Given the description of an element on the screen output the (x, y) to click on. 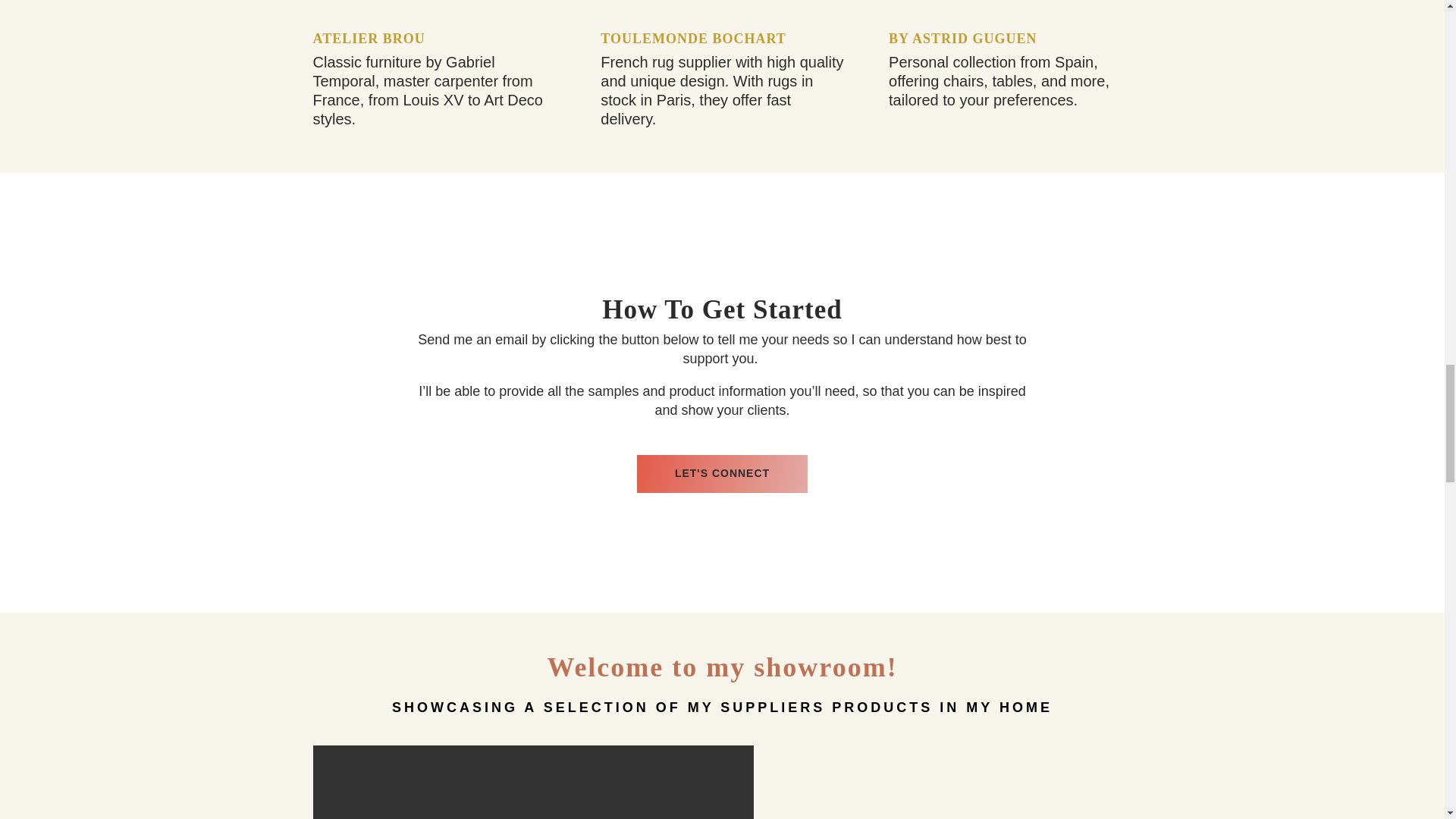
LET'S CONNECT (722, 474)
BY ASTRID GUGUEN (962, 38)
TOULEMONDE BOCHART (692, 38)
ATELIER BROU (369, 38)
